Given the description of an element on the screen output the (x, y) to click on. 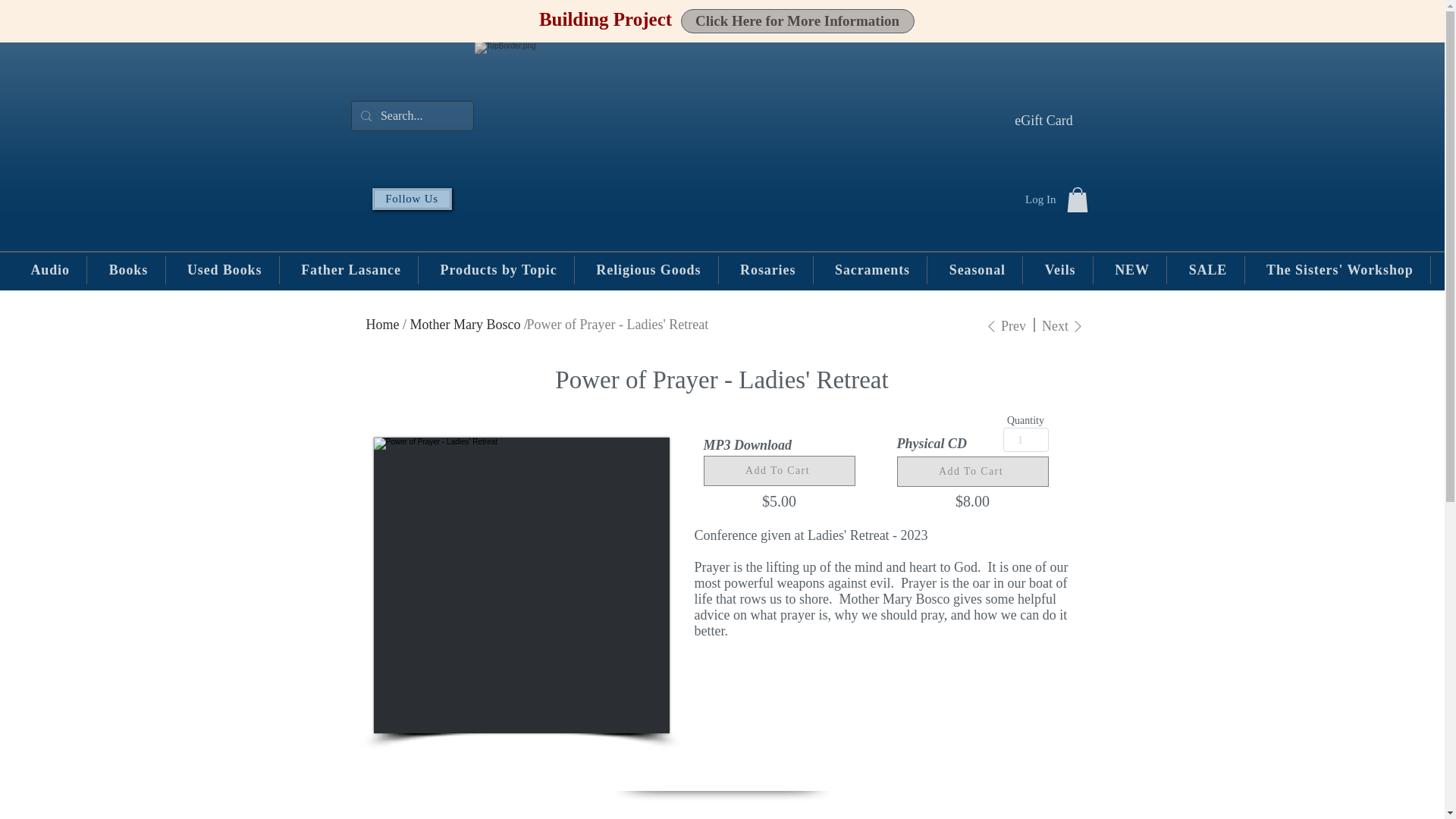
Father Lasance (351, 270)
Follow Us (411, 198)
Power of Prayer - Ladies' Retreat (520, 585)
eGift Card (1042, 120)
Click Here for More Information (797, 21)
1 (1025, 439)
Log In (1039, 198)
TopBorder.png (722, 126)
